Given the description of an element on the screen output the (x, y) to click on. 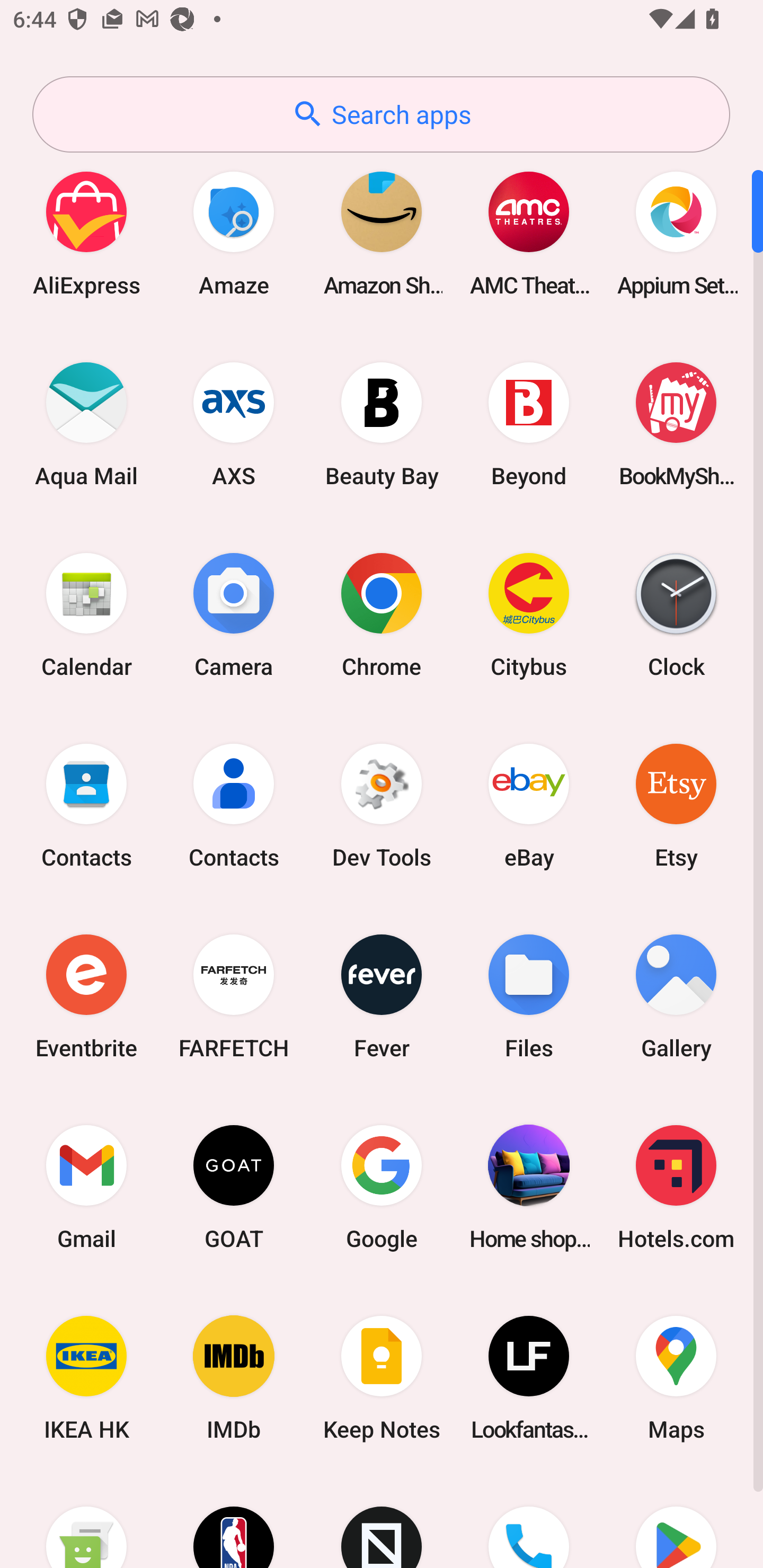
  Search apps (381, 114)
AliExpress (86, 233)
Amaze (233, 233)
Amazon Shopping (381, 233)
AMC Theatres (528, 233)
Appium Settings (676, 233)
Aqua Mail (86, 424)
AXS (233, 424)
Beauty Bay (381, 424)
Beyond (528, 424)
BookMyShow (676, 424)
Calendar (86, 614)
Camera (233, 614)
Chrome (381, 614)
Citybus (528, 614)
Clock (676, 614)
Contacts (86, 805)
Contacts (233, 805)
Dev Tools (381, 805)
eBay (528, 805)
Etsy (676, 805)
Eventbrite (86, 996)
FARFETCH (233, 996)
Fever (381, 996)
Files (528, 996)
Gallery (676, 996)
Gmail (86, 1186)
GOAT (233, 1186)
Google (381, 1186)
Home shopping (528, 1186)
Hotels.com (676, 1186)
IKEA HK (86, 1377)
IMDb (233, 1377)
Keep Notes (381, 1377)
Lookfantastic (528, 1377)
Maps (676, 1377)
Messaging (86, 1520)
NBA (233, 1520)
Novelship (381, 1520)
Phone (528, 1520)
Play Store (676, 1520)
